Given the description of an element on the screen output the (x, y) to click on. 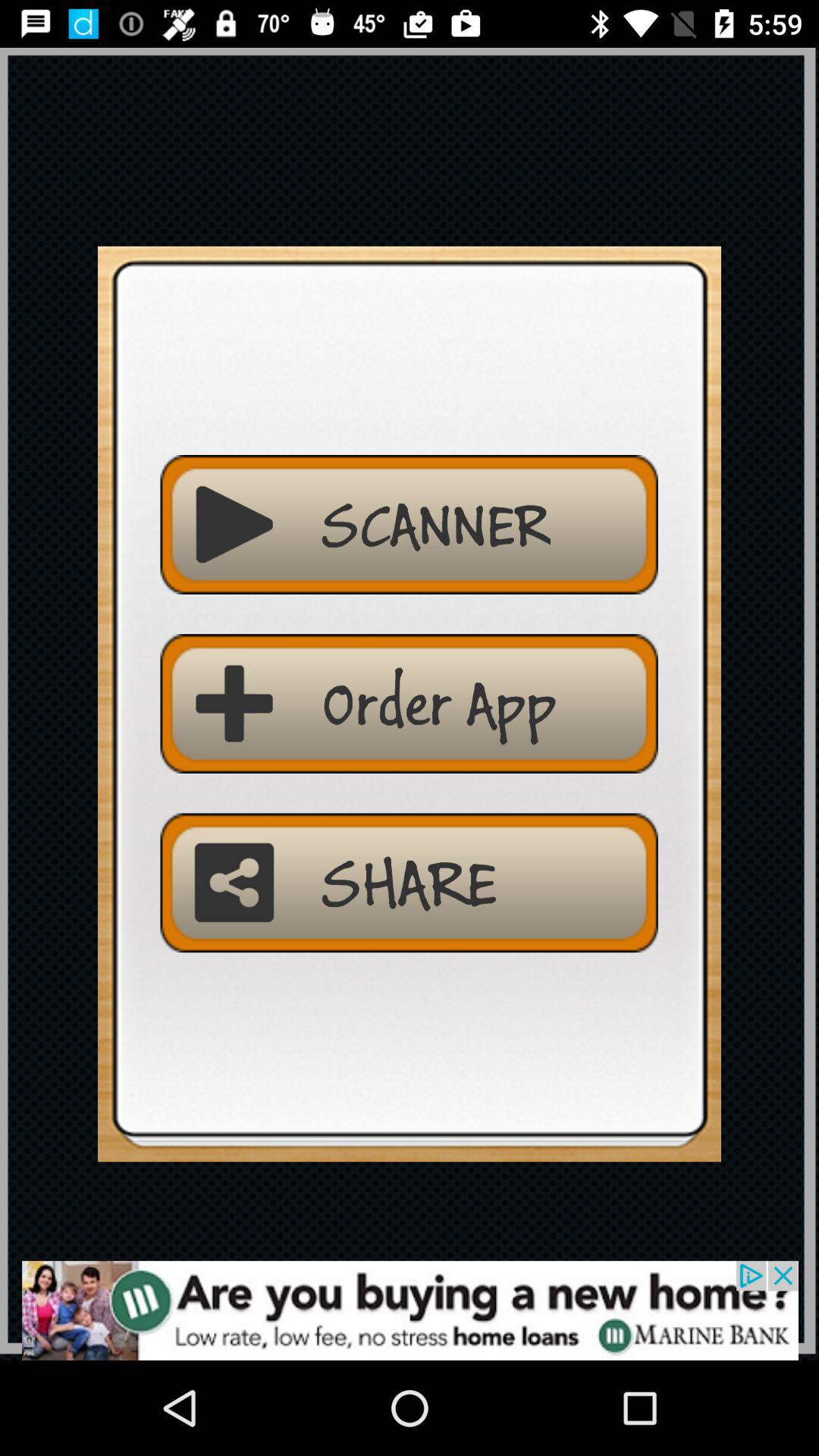
know about the advertisement (409, 1310)
